Given the description of an element on the screen output the (x, y) to click on. 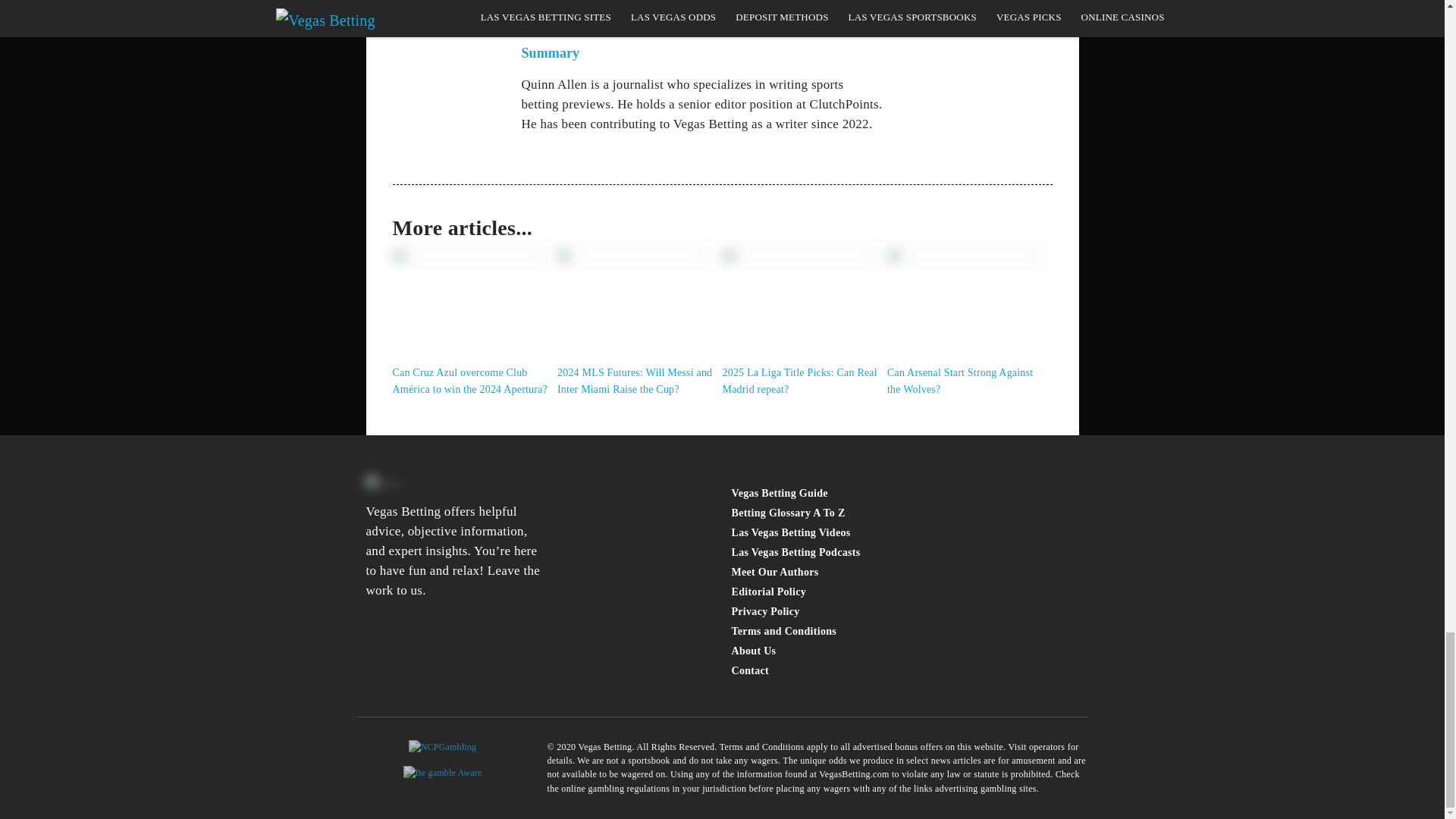
Can Arsenal Start Strong Against the Wolves? (965, 381)
2024 MLS Futures: Will Messi and Inter Miami Raise the Cup? (636, 381)
2025 La Liga Title Picks: Can Real Madrid repeat? (801, 381)
Follow VegasBetting on Youtube (405, 645)
